Given the description of an element on the screen output the (x, y) to click on. 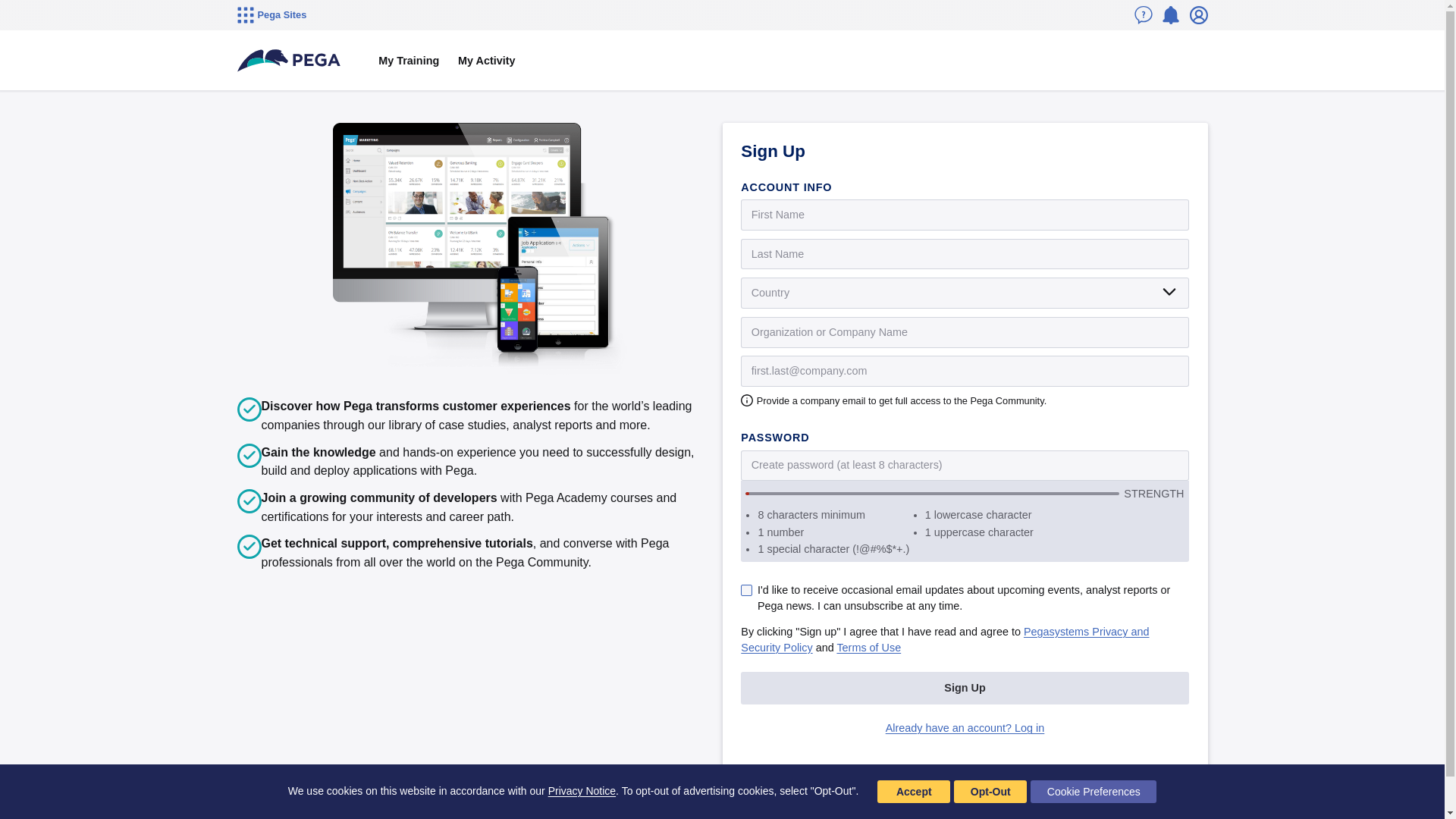
Pegasystems Privacy and Security Policy (944, 639)
Sign Up (964, 687)
Log in (1198, 15)
My Activity (486, 60)
Your Pega Academy dashboard (408, 60)
Terms of Use (868, 647)
Pega Sites (271, 15)
My Training (408, 60)
Already have an account? Log in (965, 727)
Contact (1143, 15)
Notifications (1171, 15)
